Given the description of an element on the screen output the (x, y) to click on. 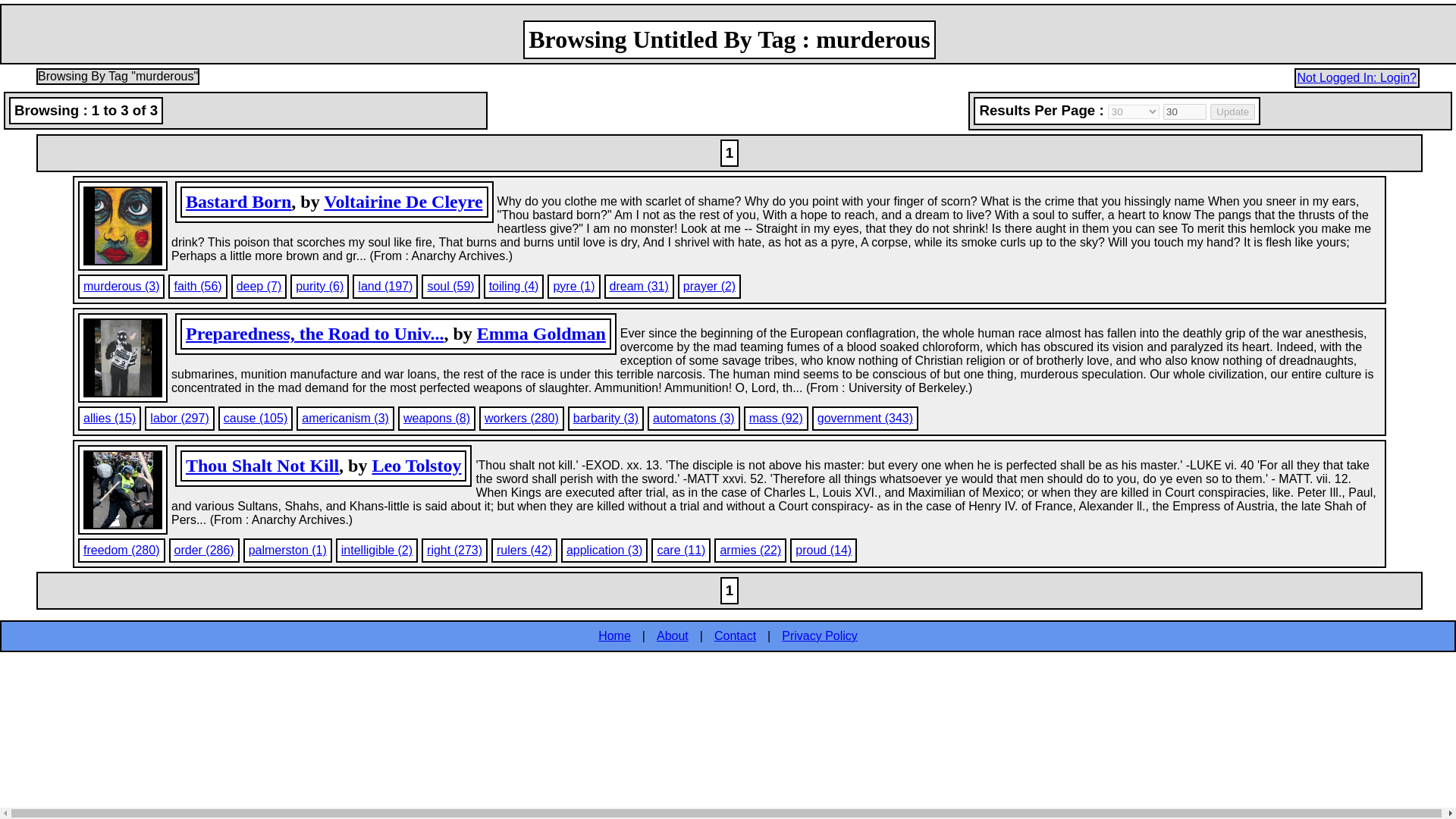
30 (1185, 111)
0 Items Viewed, 0 Remaining to Be Viewed (245, 110)
Navigate to another page of results by using these links. (729, 590)
Bastard Born (238, 201)
Emma Goldman (541, 333)
Adjust results per page here. (1209, 110)
Preparedness, the Road to Universal Slaughter (315, 333)
Voltairine De Cleyre (402, 201)
Leo Tolstoy (416, 465)
Update (1232, 111)
Update (1232, 111)
Preparedness, the Road to Univ... (315, 333)
Thou Shalt Not Kill (262, 465)
Not Logged In: Login? (1356, 77)
Navigate to another page of results by using these links. (729, 152)
